Given the description of an element on the screen output the (x, y) to click on. 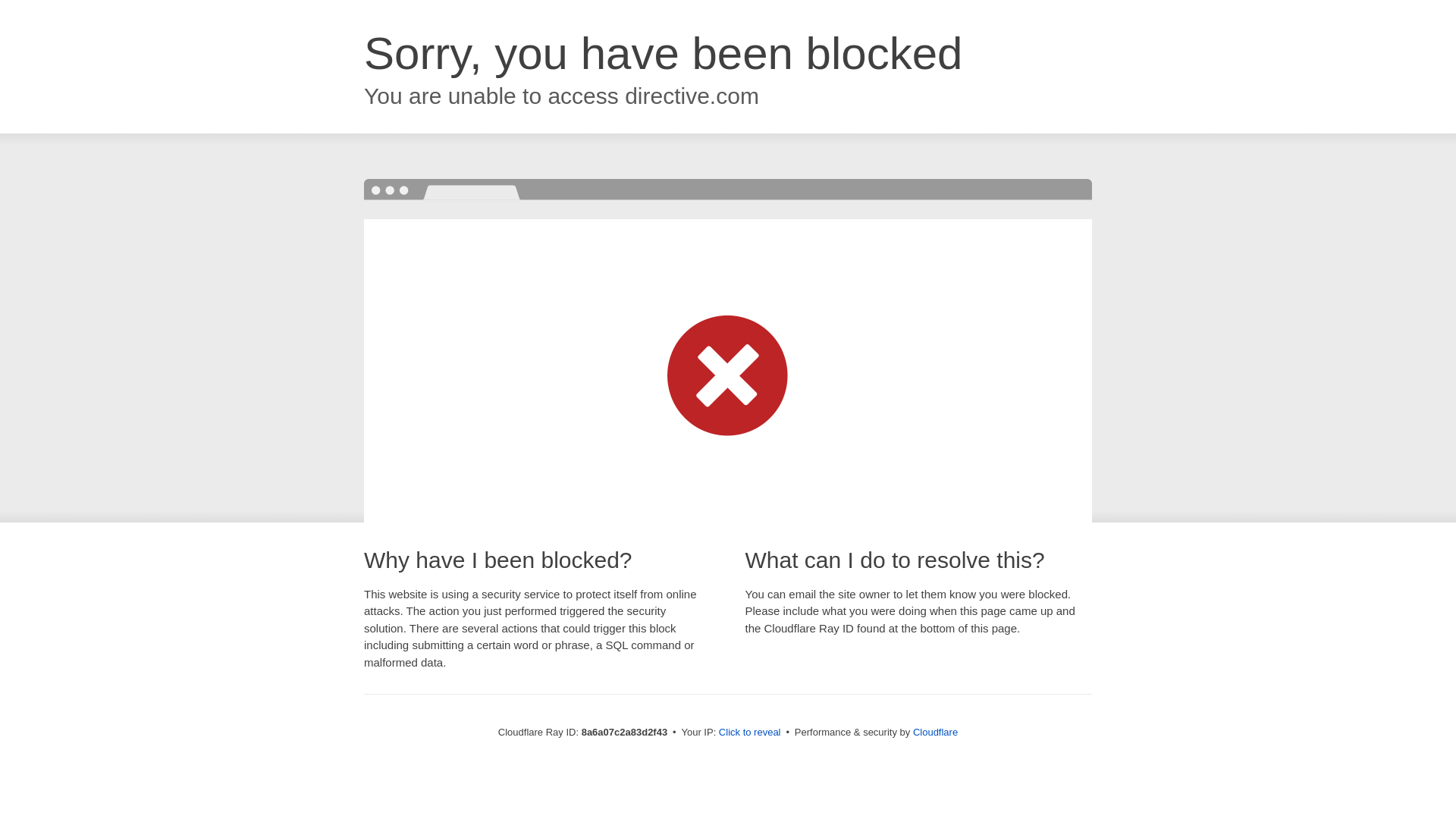
Cloudflare (935, 731)
Click to reveal (749, 732)
